Given the description of an element on the screen output the (x, y) to click on. 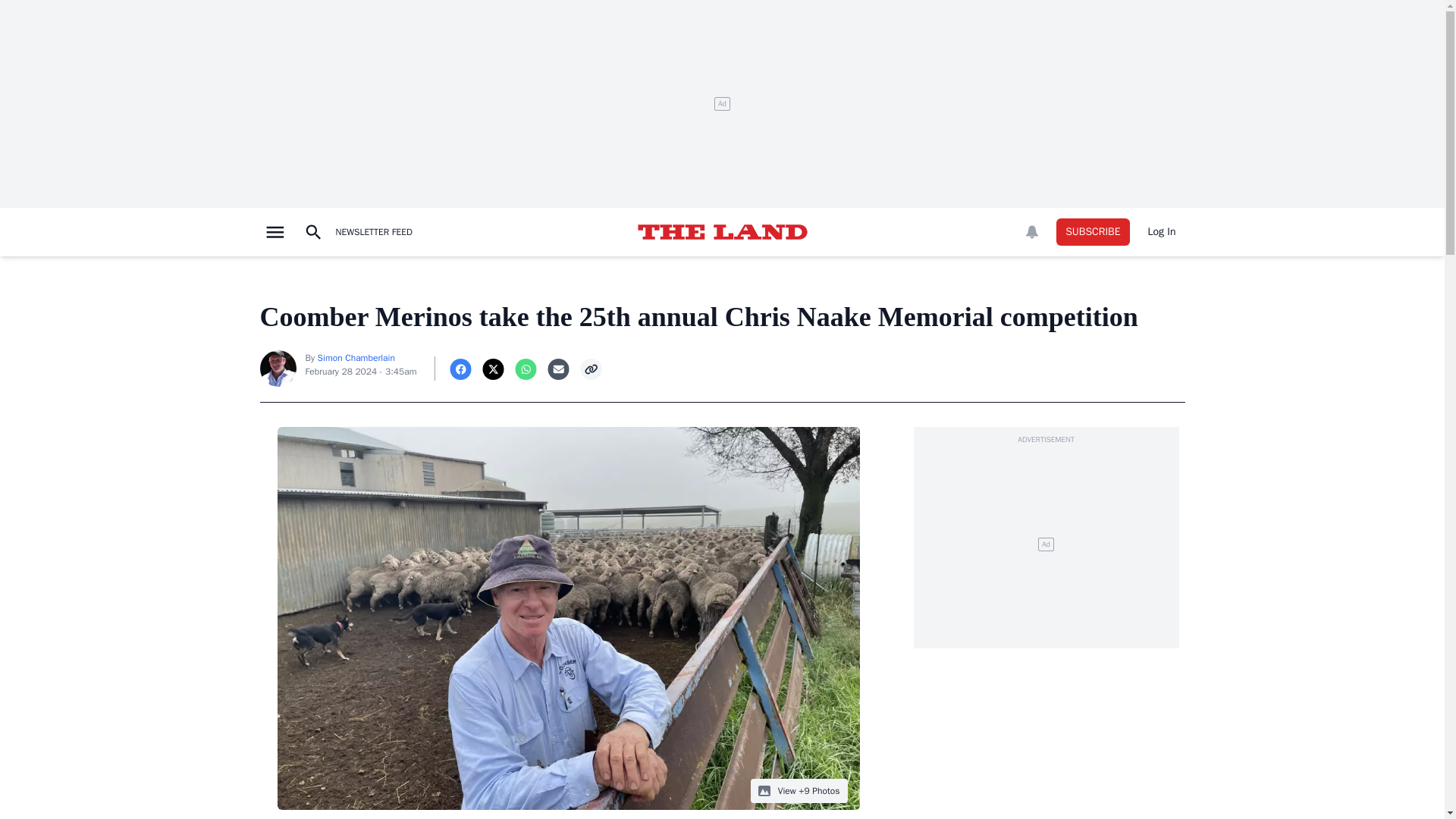
NEWSLETTER FEED (373, 232)
Log In (1161, 231)
SUBSCRIBE (1093, 231)
